Given the description of an element on the screen output the (x, y) to click on. 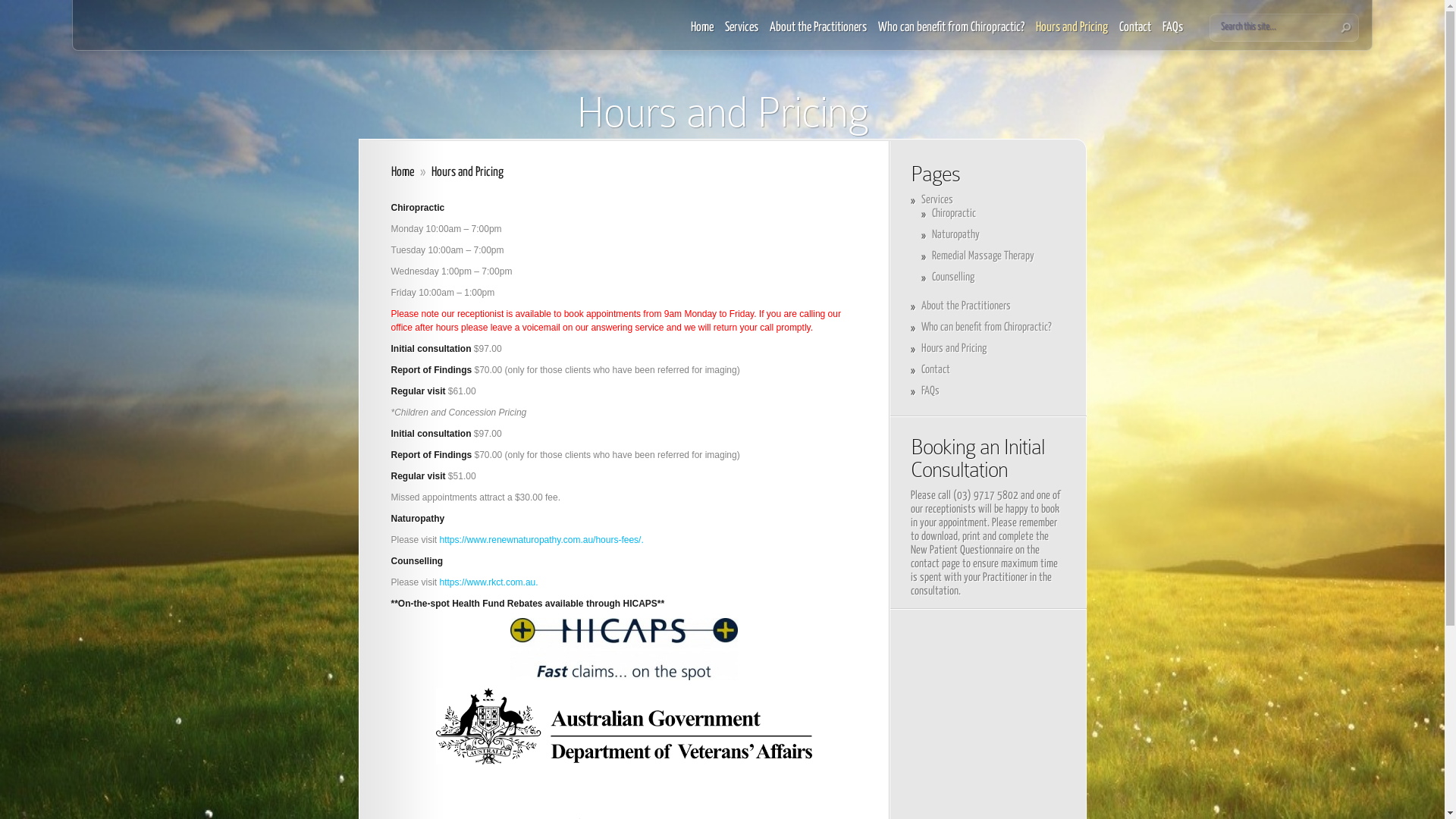
Contact Element type: text (1135, 35)
Contact Element type: text (934, 369)
Home Element type: text (402, 172)
Hours and Pricing Element type: text (952, 348)
Chiropractic Element type: text (953, 213)
About the Practitioners Element type: text (965, 305)
https://www.rkct.com.au. Element type: text (488, 582)
FAQs Element type: text (929, 390)
Remedial Massage Therapy Element type: text (982, 255)
Who can benefit from Chiropractic? Element type: text (985, 326)
Services Element type: text (741, 35)
Naturopathy Element type: text (955, 234)
Counselling Element type: text (952, 276)
Hours and Pricing Element type: text (1071, 35)
https://www.renewnaturopathy.com.au/hours-fees/. Element type: text (541, 539)
Services Element type: text (936, 199)
FAQs Element type: text (1172, 35)
Who can benefit from Chiropractic? Element type: text (951, 35)
Home Element type: text (701, 35)
About the Practitioners Element type: text (817, 35)
